Given the description of an element on the screen output the (x, y) to click on. 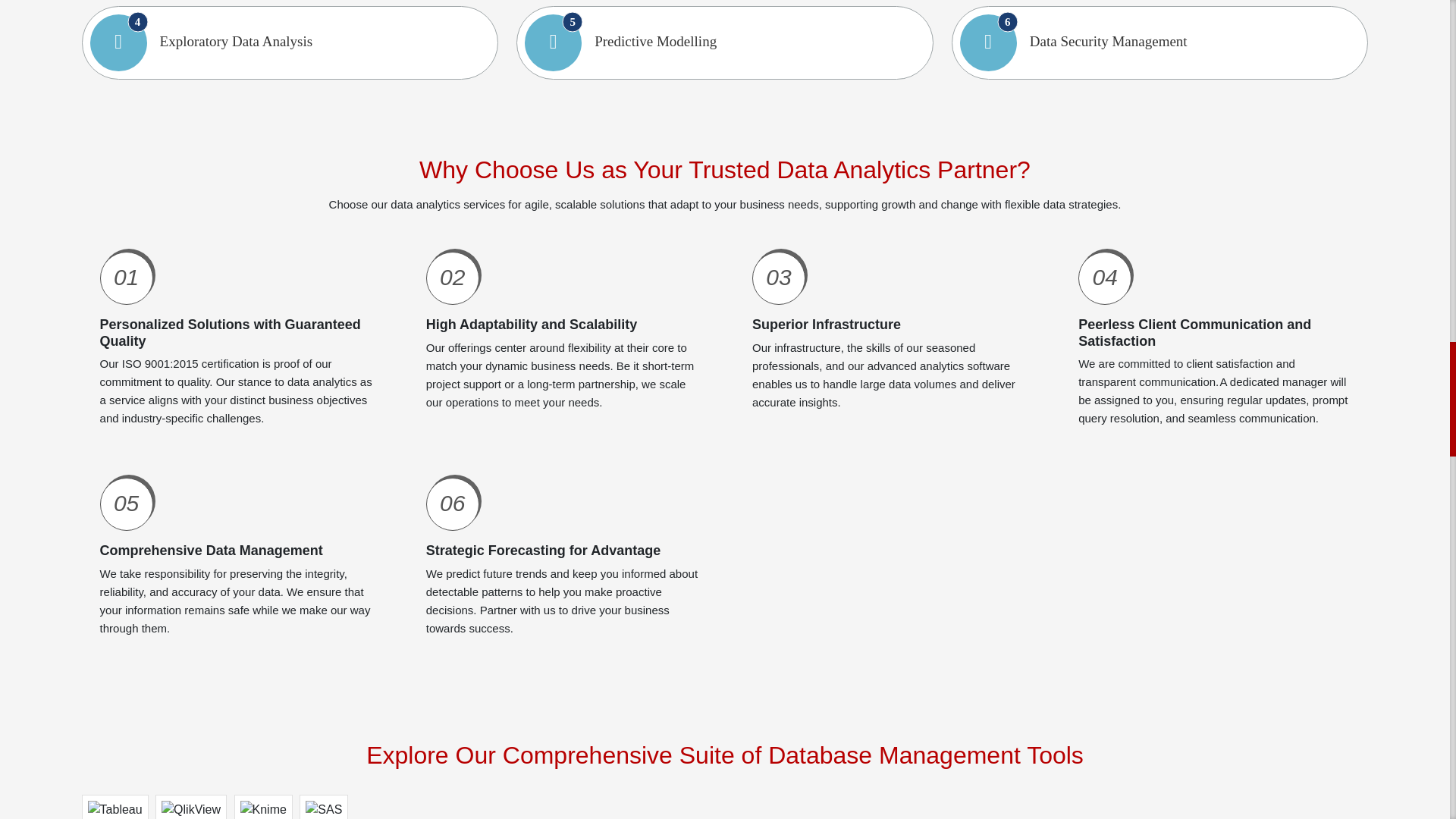
Tableau (114, 806)
Knime  (262, 806)
SAS  (323, 806)
QlikView  (191, 806)
